Given the description of an element on the screen output the (x, y) to click on. 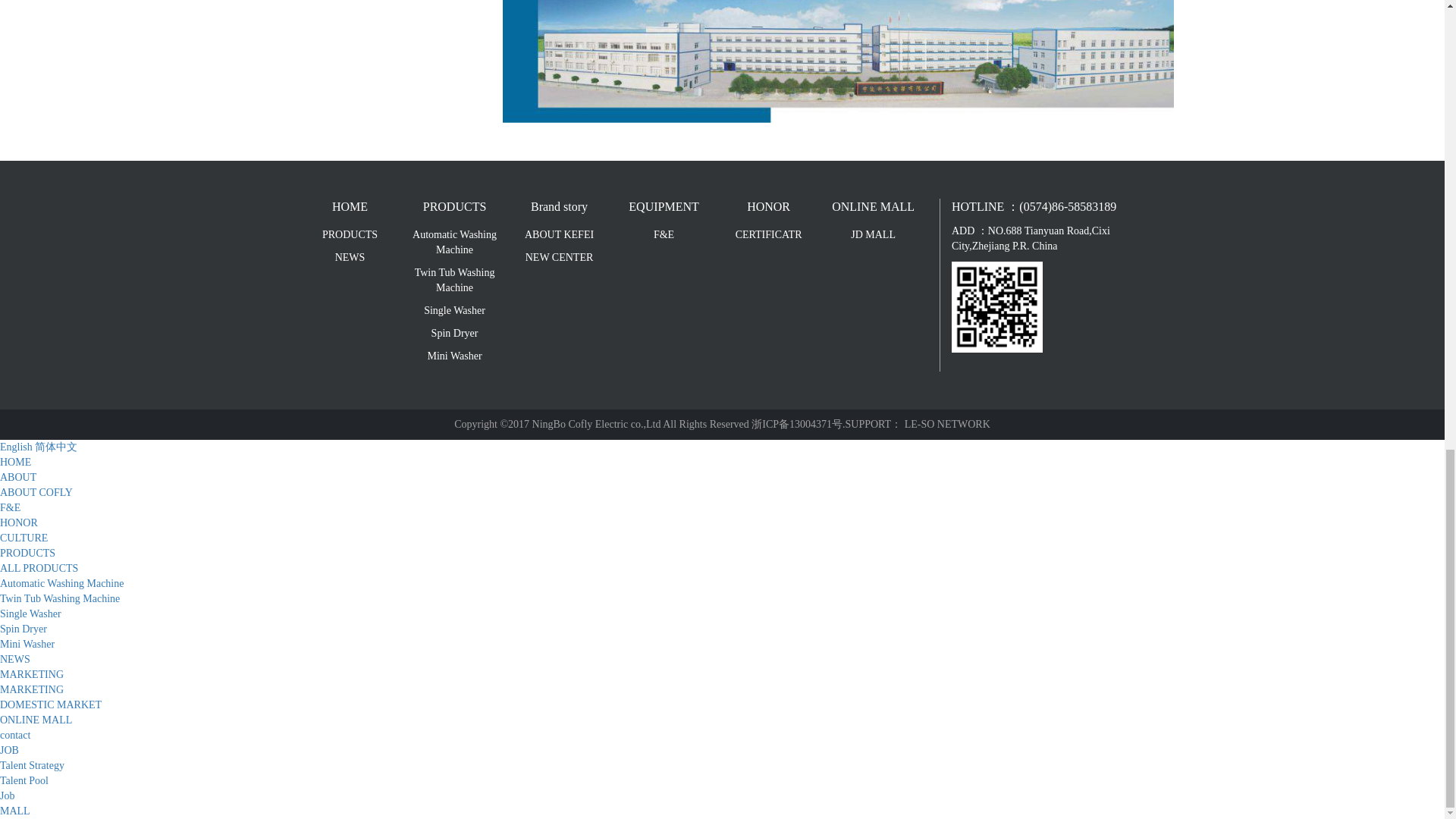
Spin Dryer (454, 333)
ABOUT KEFEI (558, 234)
Twin Tub Washing Machine (454, 280)
Brand story (558, 207)
PRODUCTS (454, 207)
JD MALL (873, 234)
HOME (349, 207)
Mini Washer (454, 355)
HONOR (768, 207)
PRODUCTS (349, 234)
